Given the description of an element on the screen output the (x, y) to click on. 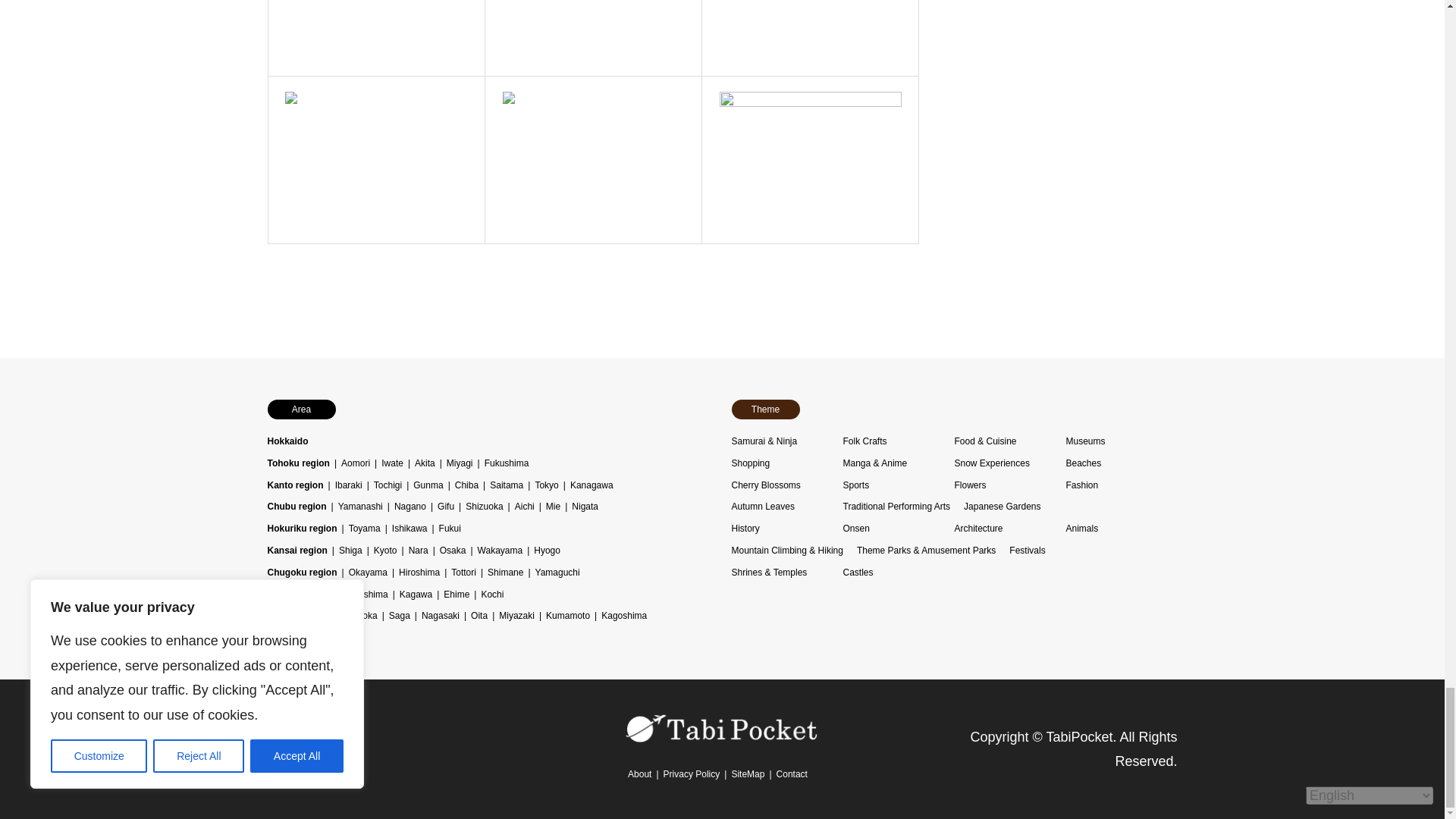
TabiPocket (721, 727)
TabiPocket (721, 739)
